Given the description of an element on the screen output the (x, y) to click on. 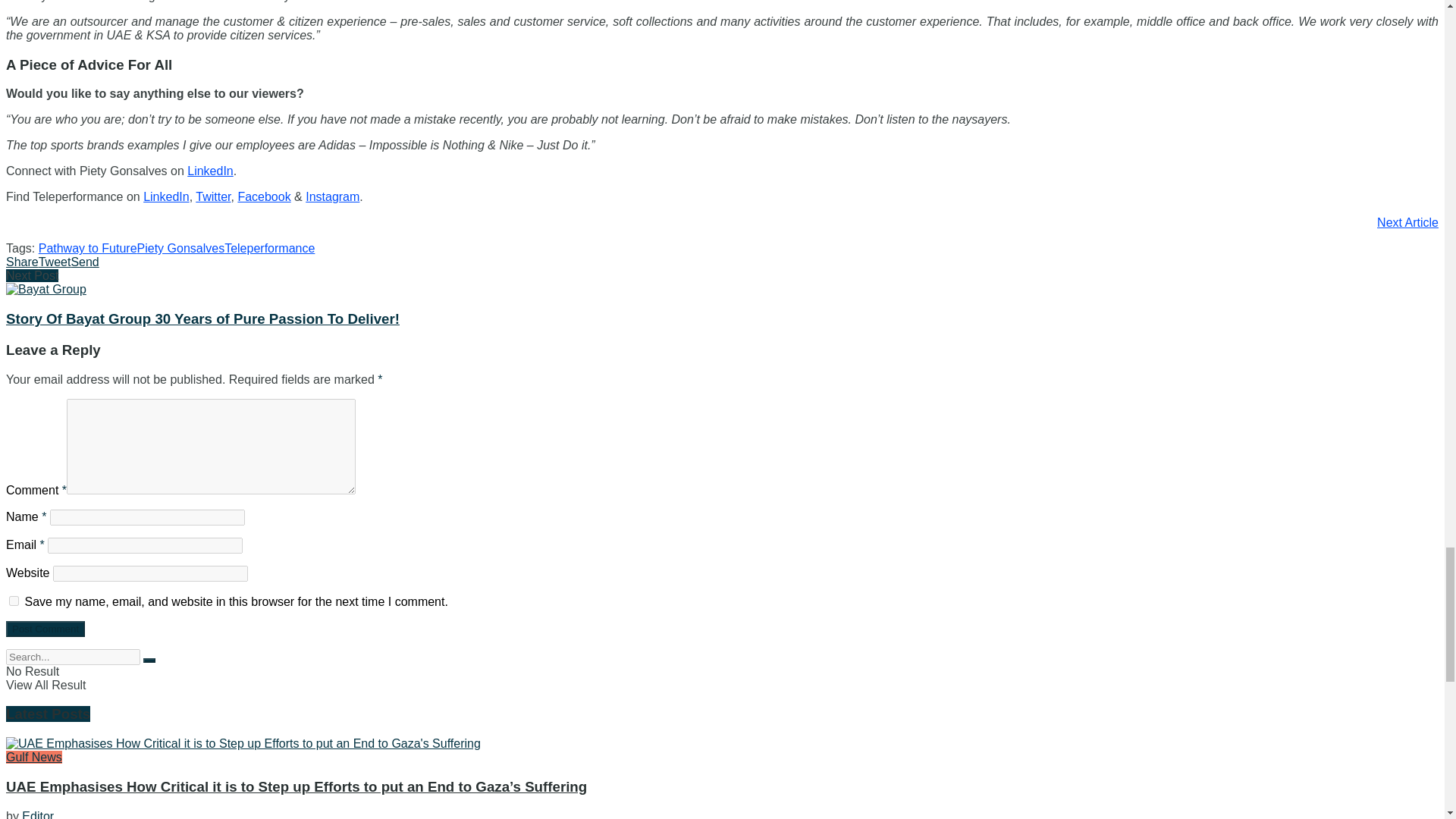
yes (13, 601)
Story Of Bayat Group 30 Years of Pure Passion To Deliver! 2 (45, 289)
Post Comment (44, 628)
